Given the description of an element on the screen output the (x, y) to click on. 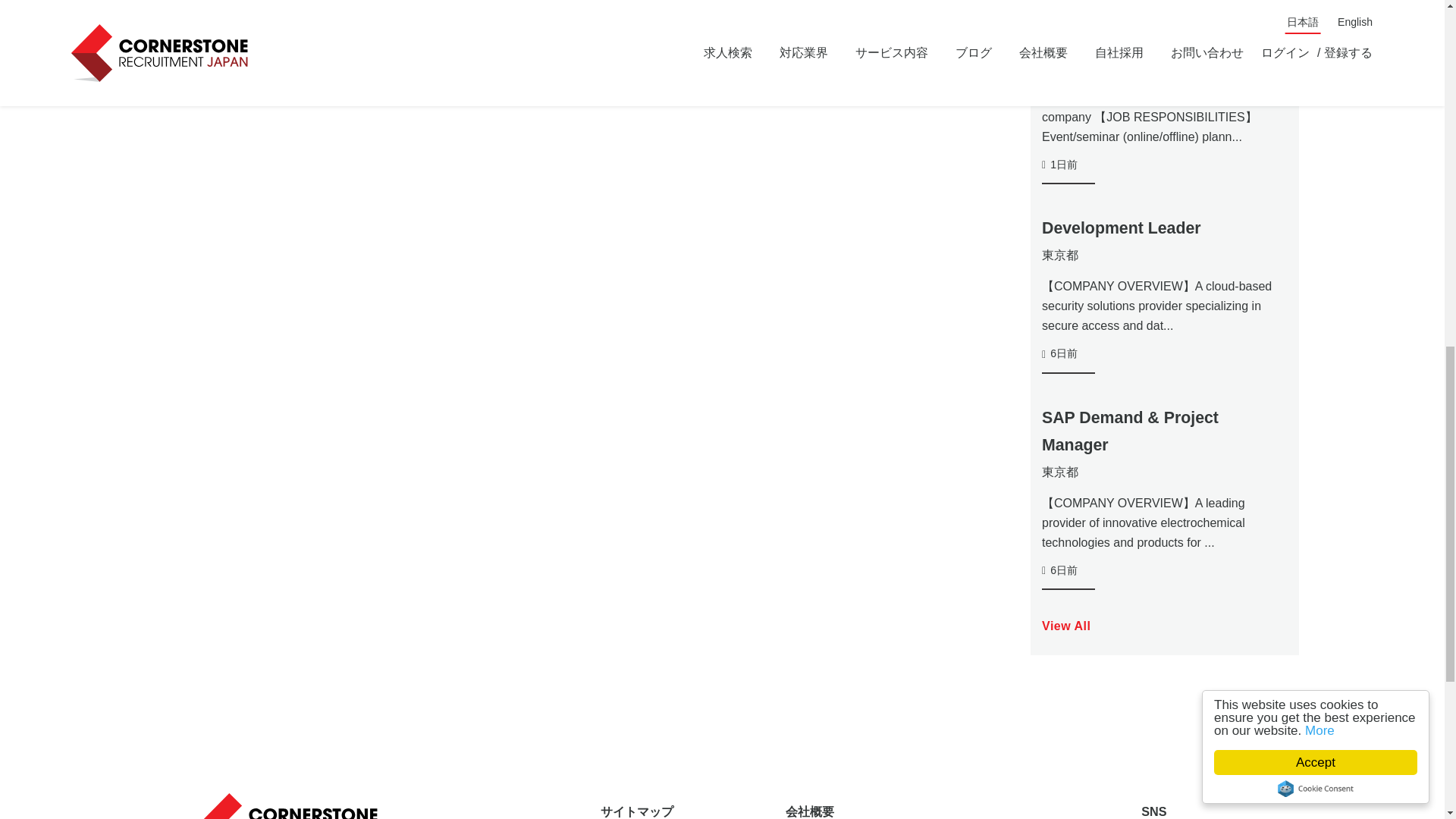
Go to the Homepage (292, 805)
